Given the description of an element on the screen output the (x, y) to click on. 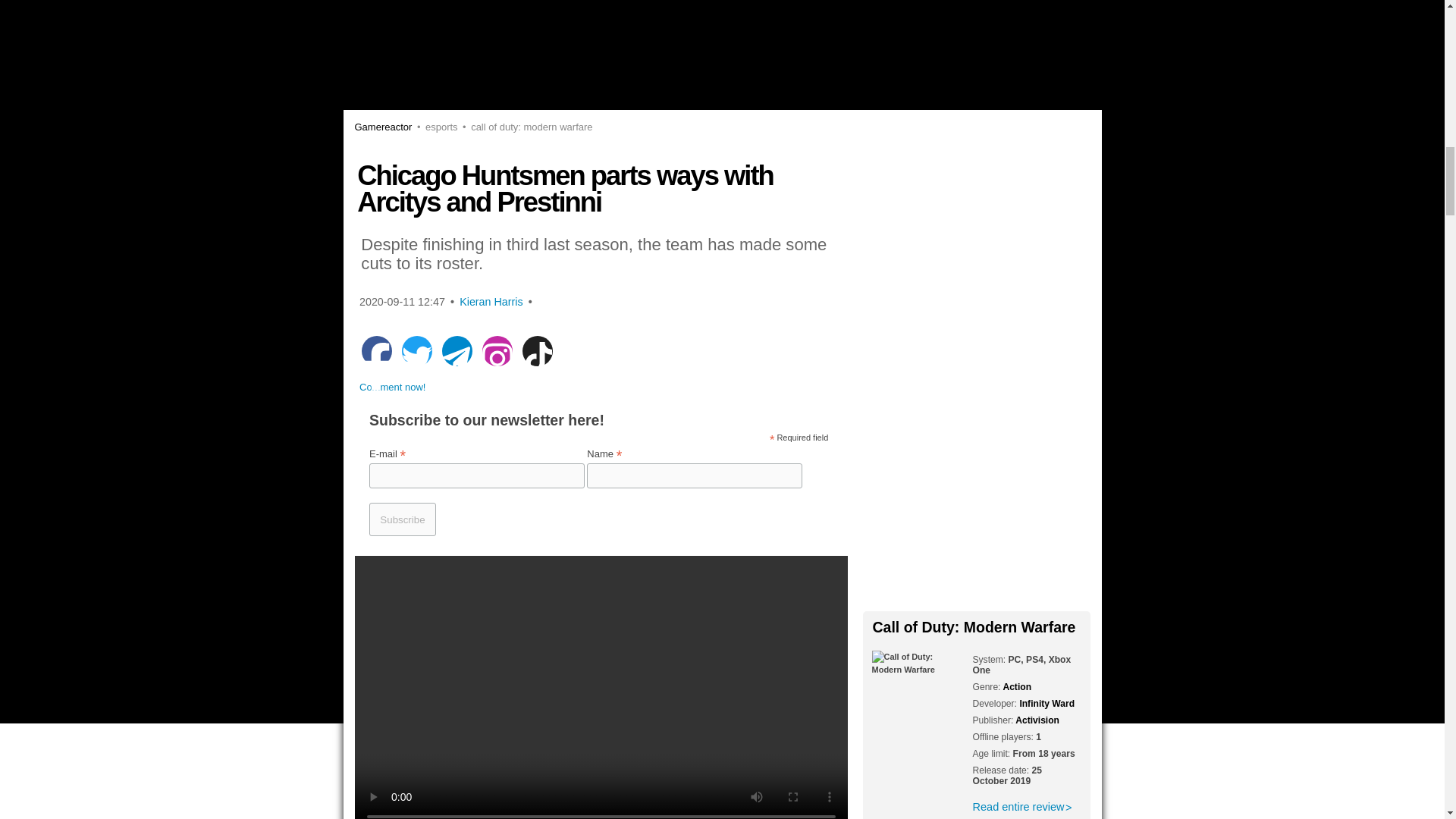
Gamereactor esports (434, 126)
Gamereactor (383, 126)
Call of Duty: Modern Warfare (525, 126)
Subscribe (402, 519)
